Given the description of an element on the screen output the (x, y) to click on. 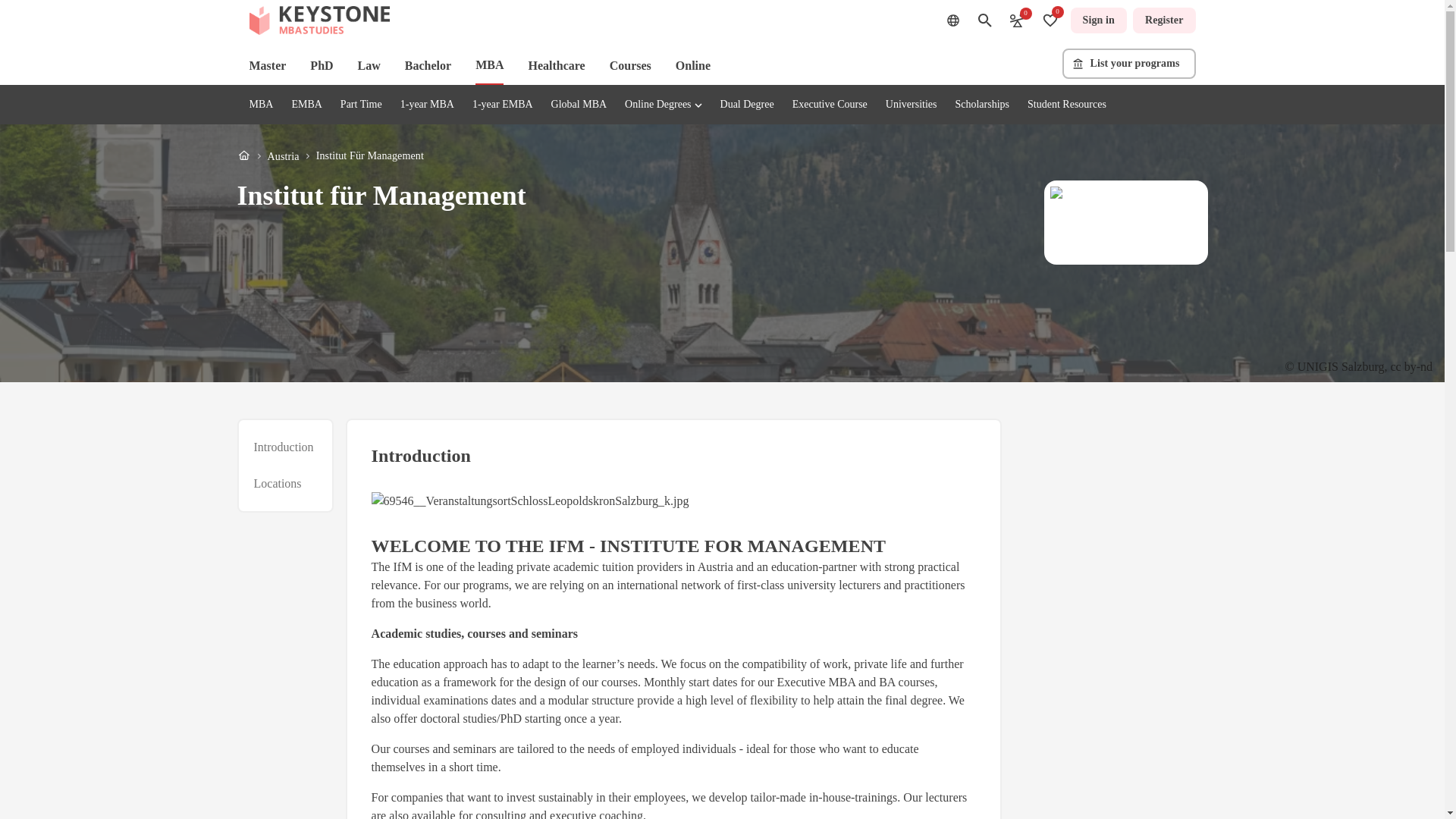
Online (692, 65)
Global MBA (579, 103)
0 (1016, 20)
Scholarships (982, 103)
Dual Degree (284, 465)
Sign in (747, 103)
Locations (1098, 20)
Register (277, 484)
EMBA (1163, 20)
